Given the description of an element on the screen output the (x, y) to click on. 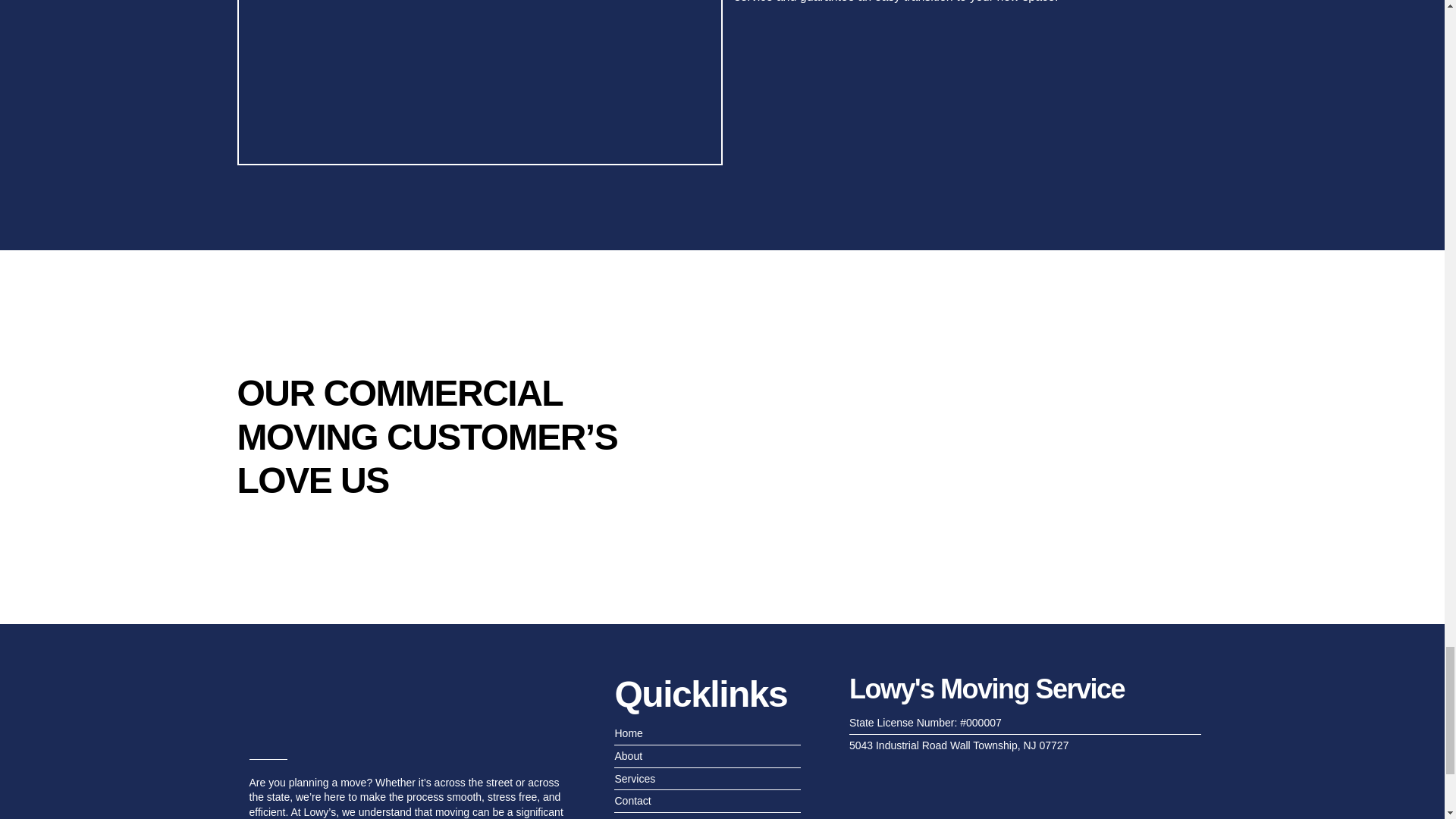
Home (706, 734)
Contact (706, 801)
5043 Industrial Road Wall Township, NJ 07727 (1024, 745)
About (706, 756)
Terms and Conditions (706, 817)
Services (706, 779)
